Given the description of an element on the screen output the (x, y) to click on. 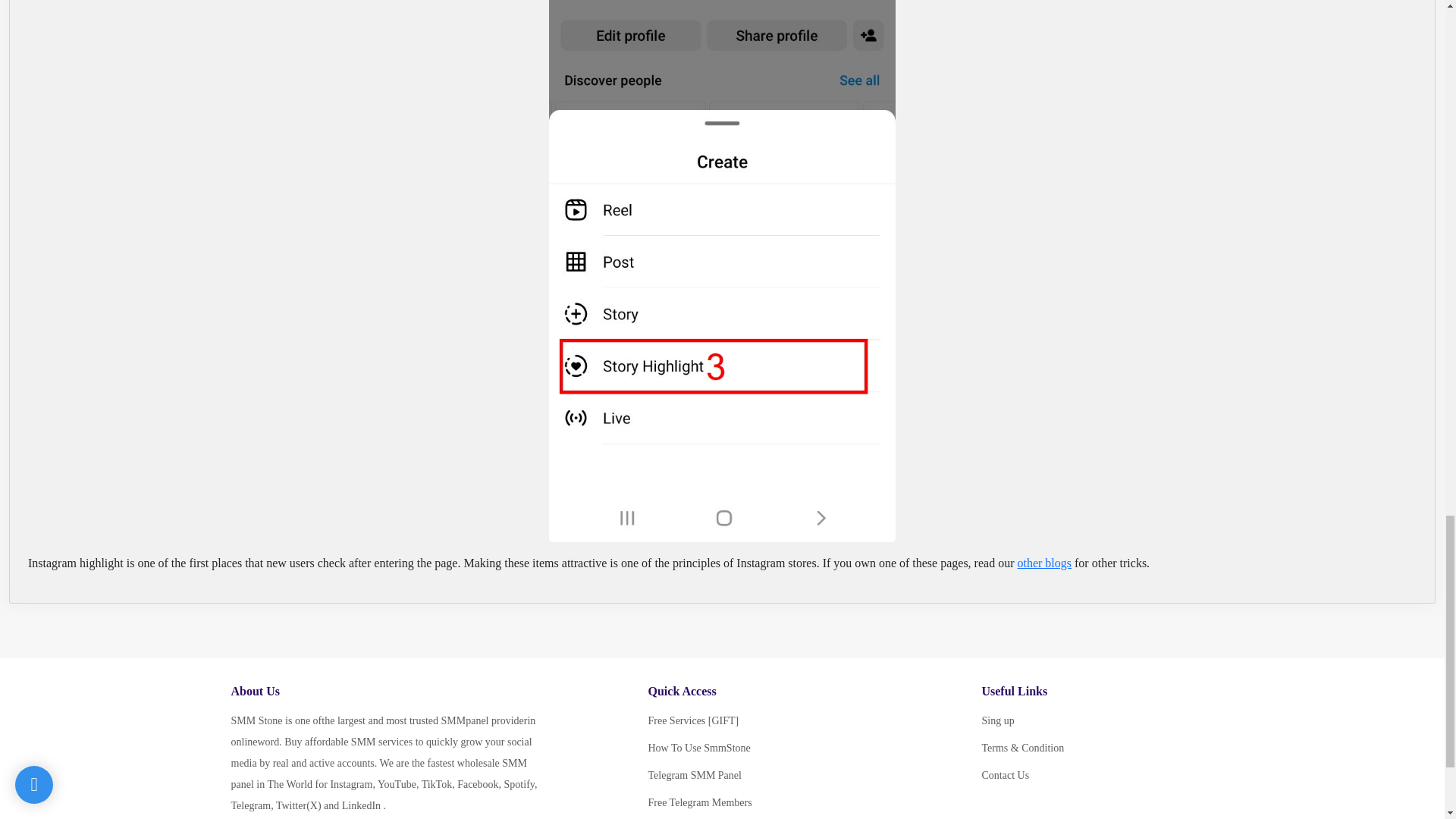
Free Telegram Members (763, 803)
Telegram SMM Panel (763, 775)
other blogs (1043, 562)
How To Use SmmStone (763, 748)
